Given the description of an element on the screen output the (x, y) to click on. 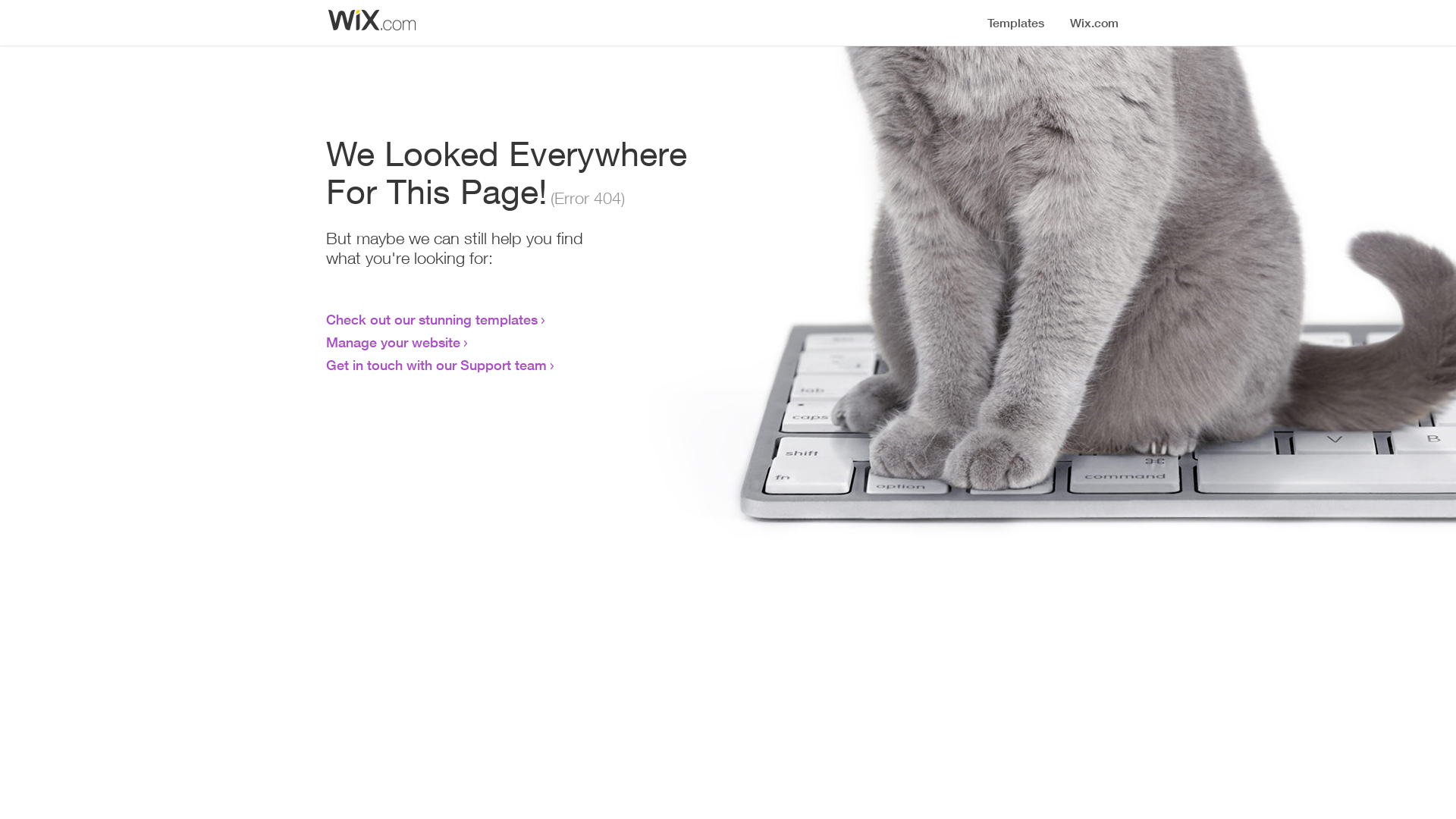
Manage your website Element type: text (393, 341)
Get in touch with our Support team Element type: text (436, 364)
Check out our stunning templates Element type: text (431, 318)
